Given the description of an element on the screen output the (x, y) to click on. 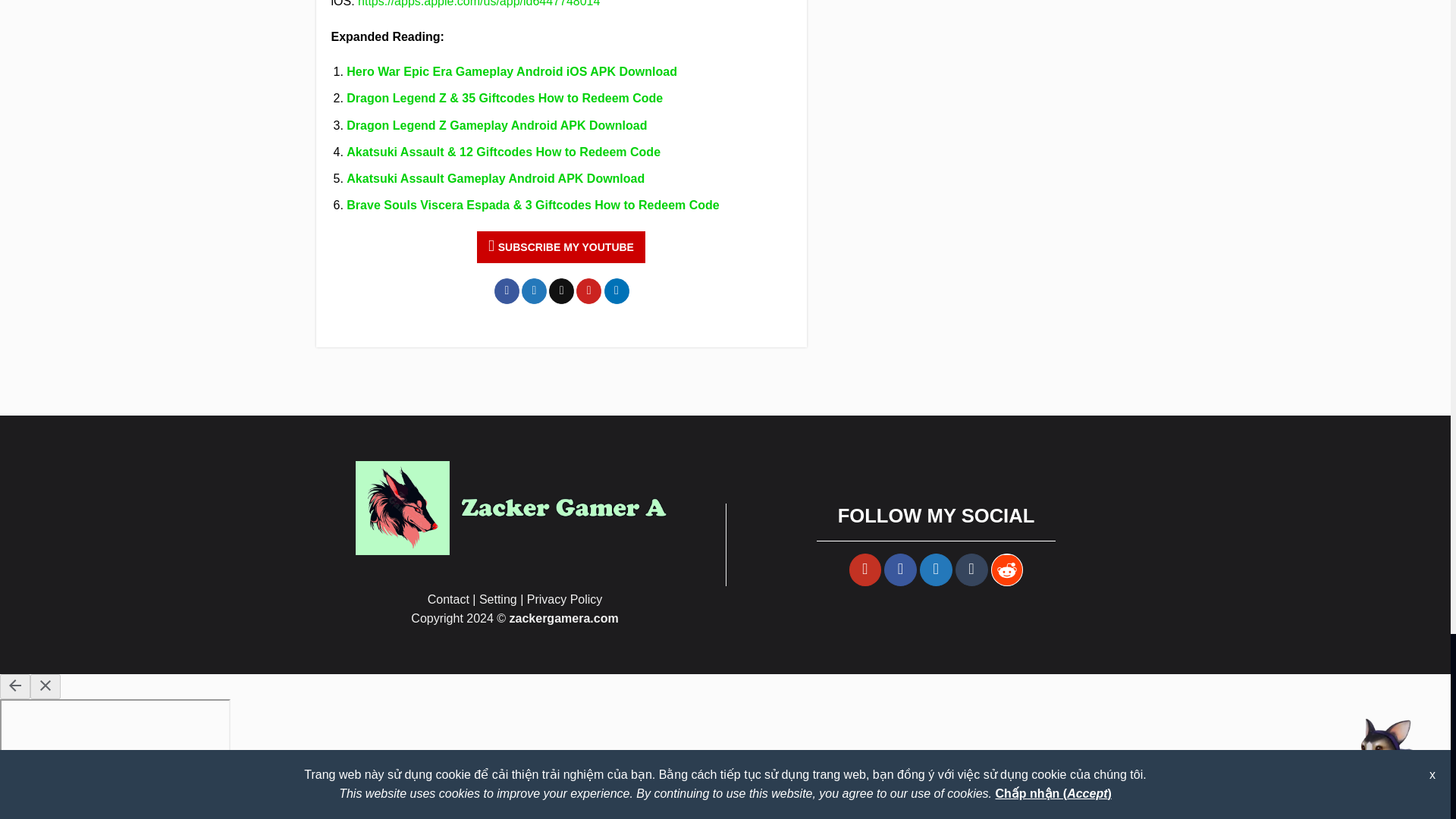
Akatsuki Assault Gameplay Android APK Download (495, 178)
Dragon Legend Z Gameplay Android APK Download (496, 124)
Subscribe My Youtube (561, 246)
Share on Twitter (534, 290)
Hero War Epic Era Gameplay Android iOS APK Download (511, 71)
SUBSCRIBE MY YOUTUBE (561, 246)
Share on Facebook (507, 290)
Pin on Pinterest (588, 290)
Email to a Friend (560, 290)
